Given the description of an element on the screen output the (x, y) to click on. 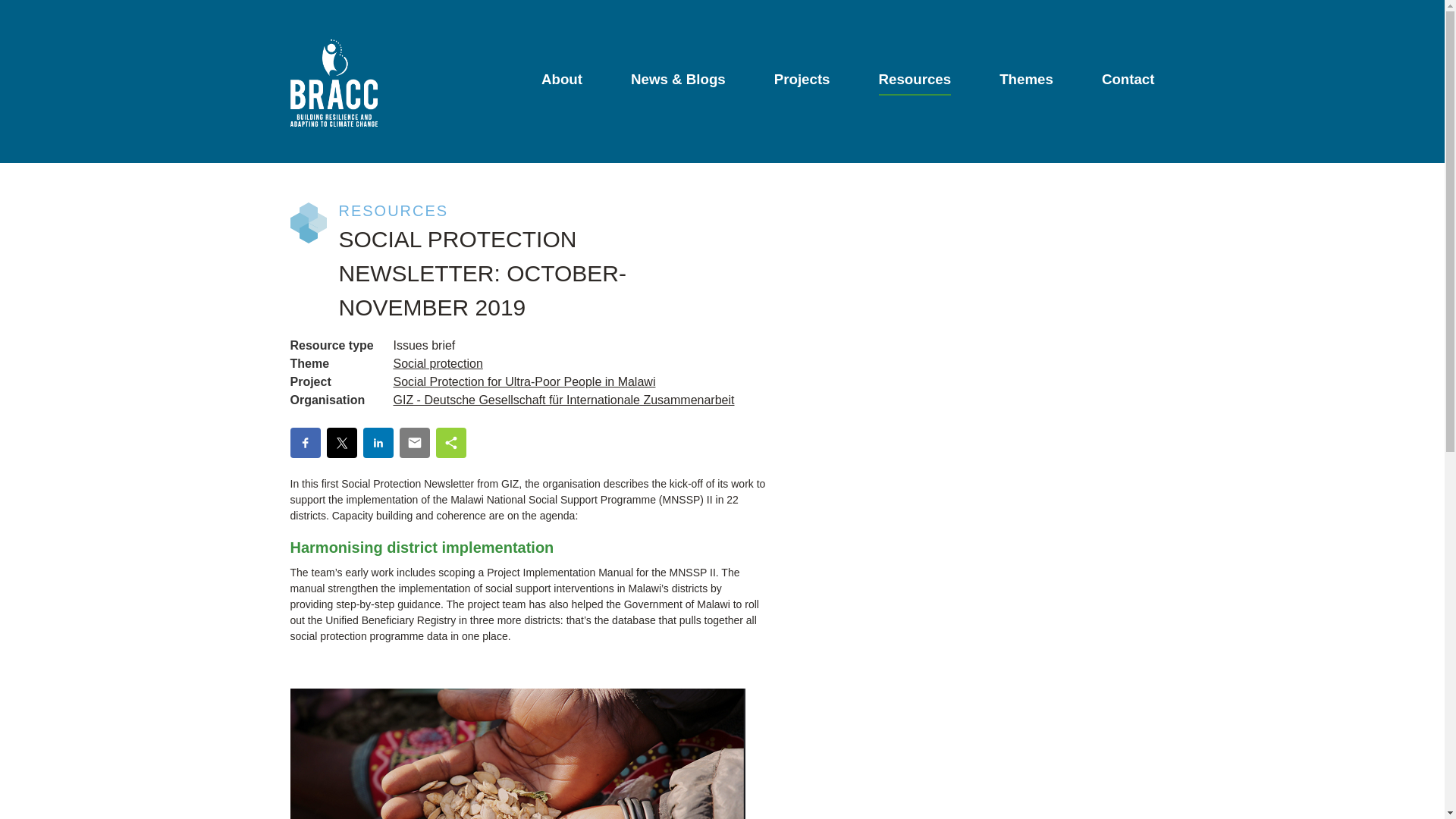
Contact (1128, 82)
Social Protection for Ultra-Poor People in Malawi (524, 381)
About (561, 82)
Go to home page (333, 82)
Themes (1025, 82)
Resources (915, 82)
Social protection (437, 363)
Projects (801, 82)
